Given the description of an element on the screen output the (x, y) to click on. 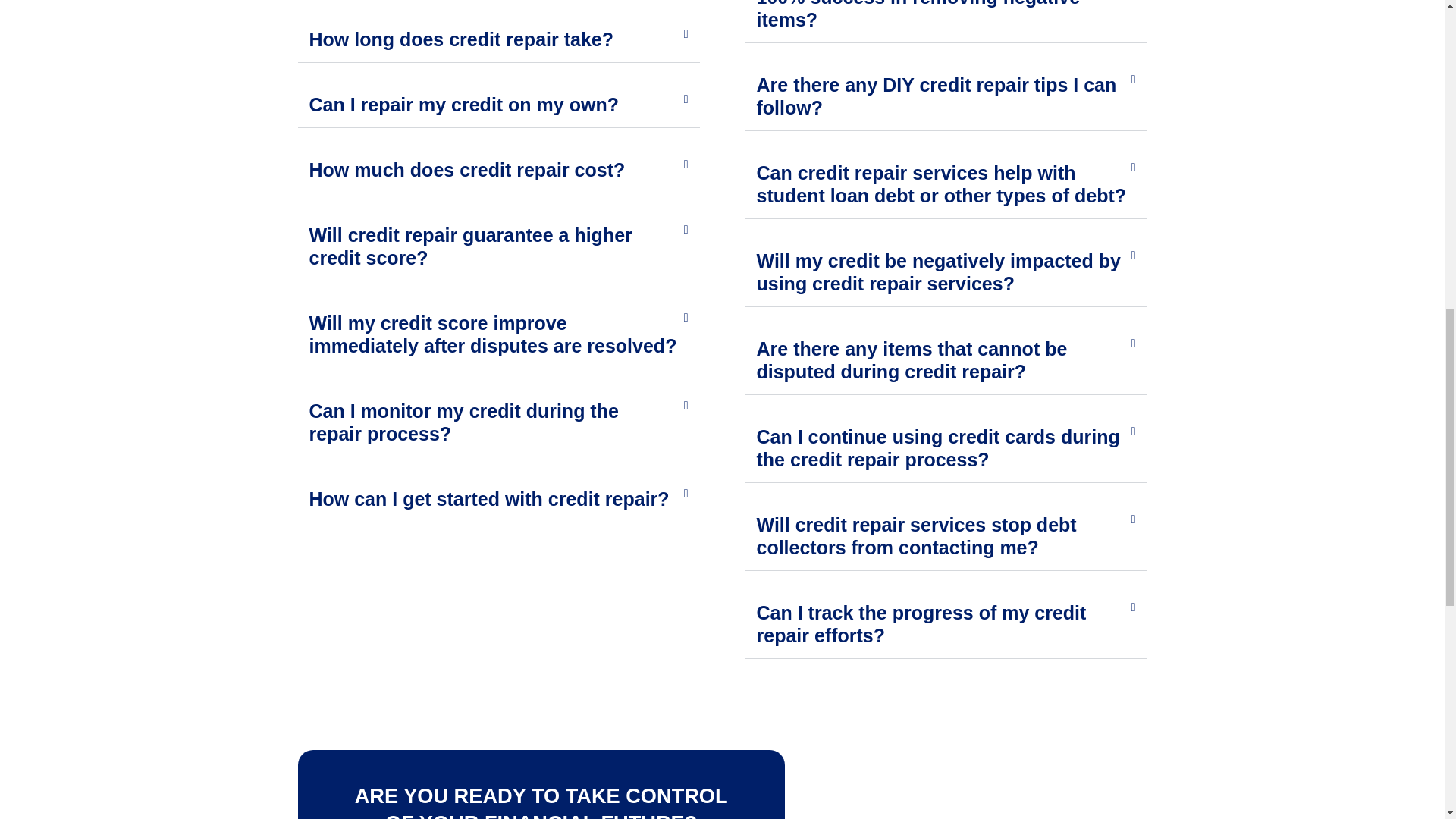
Can I repair my credit on my own? (463, 104)
How much does credit repair cost? (467, 169)
How long does credit repair take? (460, 38)
